Given the description of an element on the screen output the (x, y) to click on. 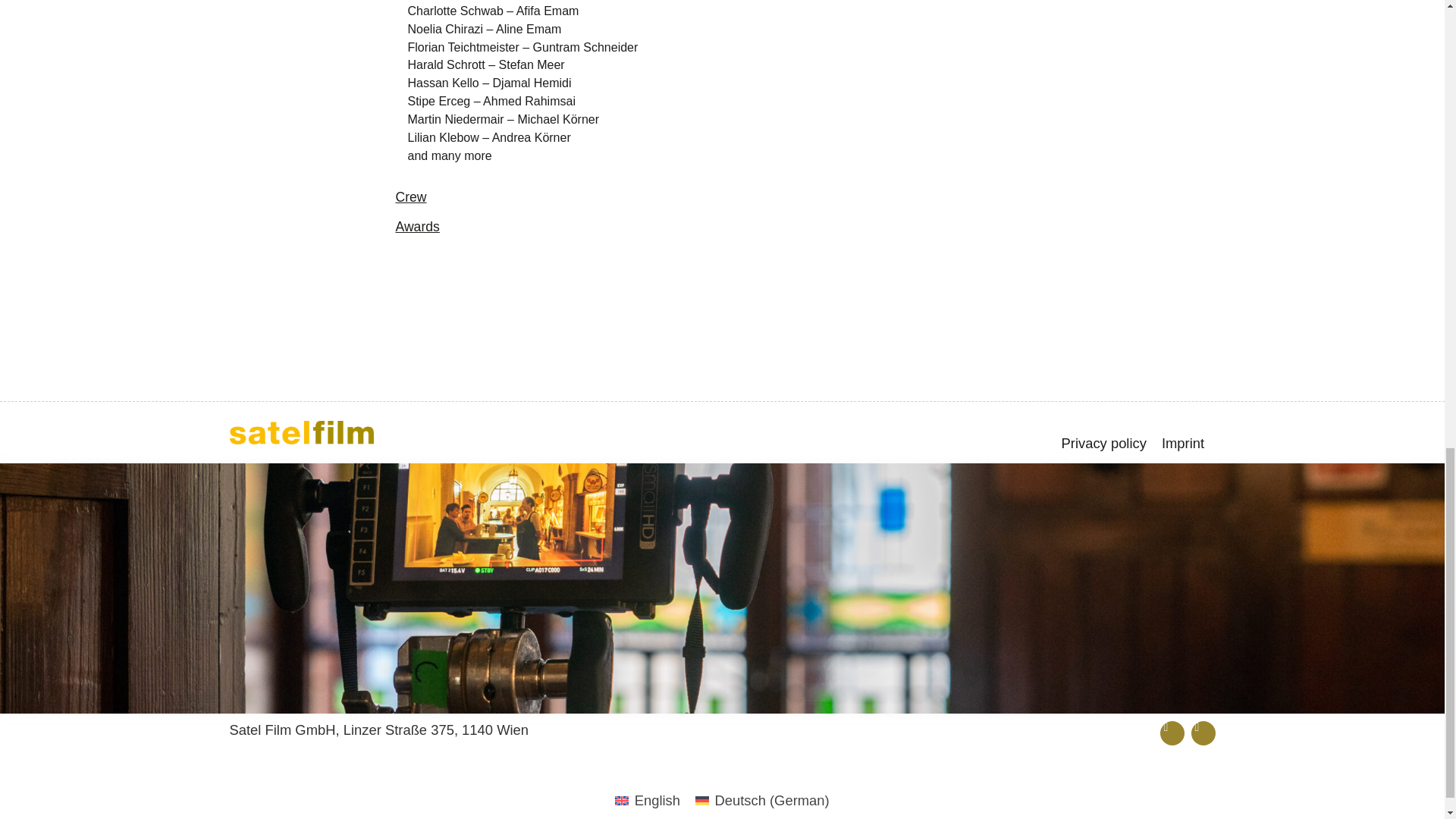
Imprint (1182, 443)
English (647, 800)
Privacy policy (1104, 443)
Crew (410, 196)
Awards (416, 226)
